Given the description of an element on the screen output the (x, y) to click on. 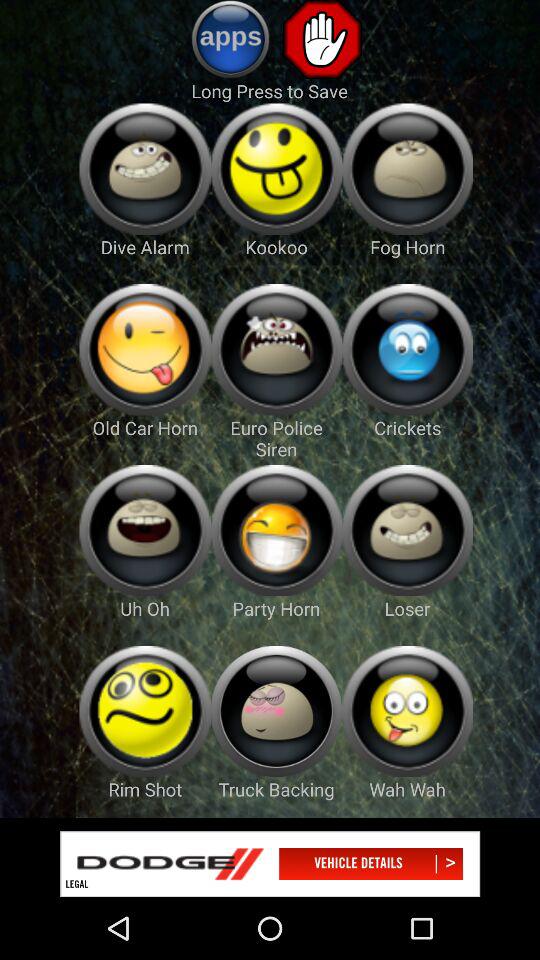
playing the game image (276, 530)
